Given the description of an element on the screen output the (x, y) to click on. 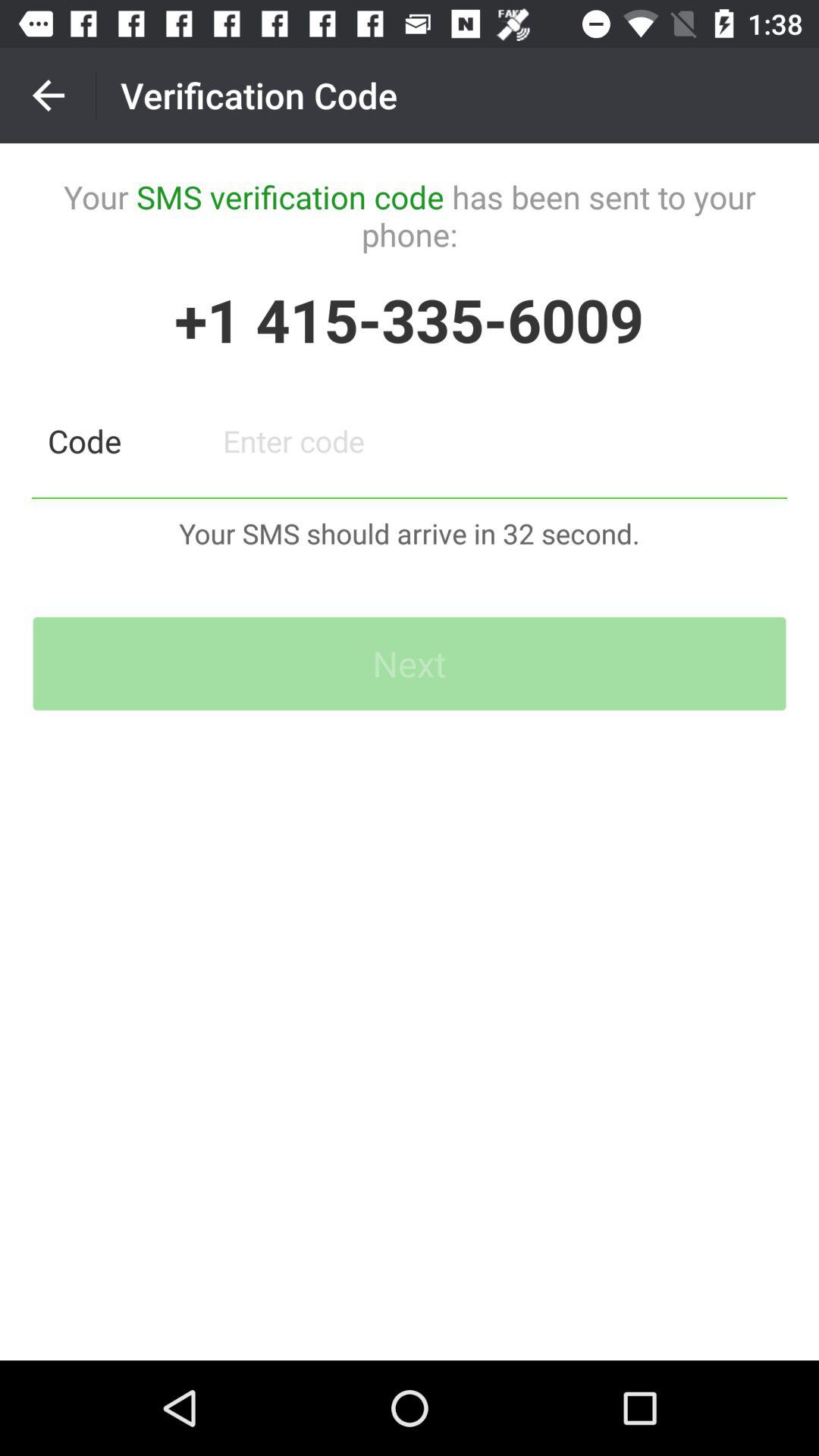
code entry field (496, 440)
